Given the description of an element on the screen output the (x, y) to click on. 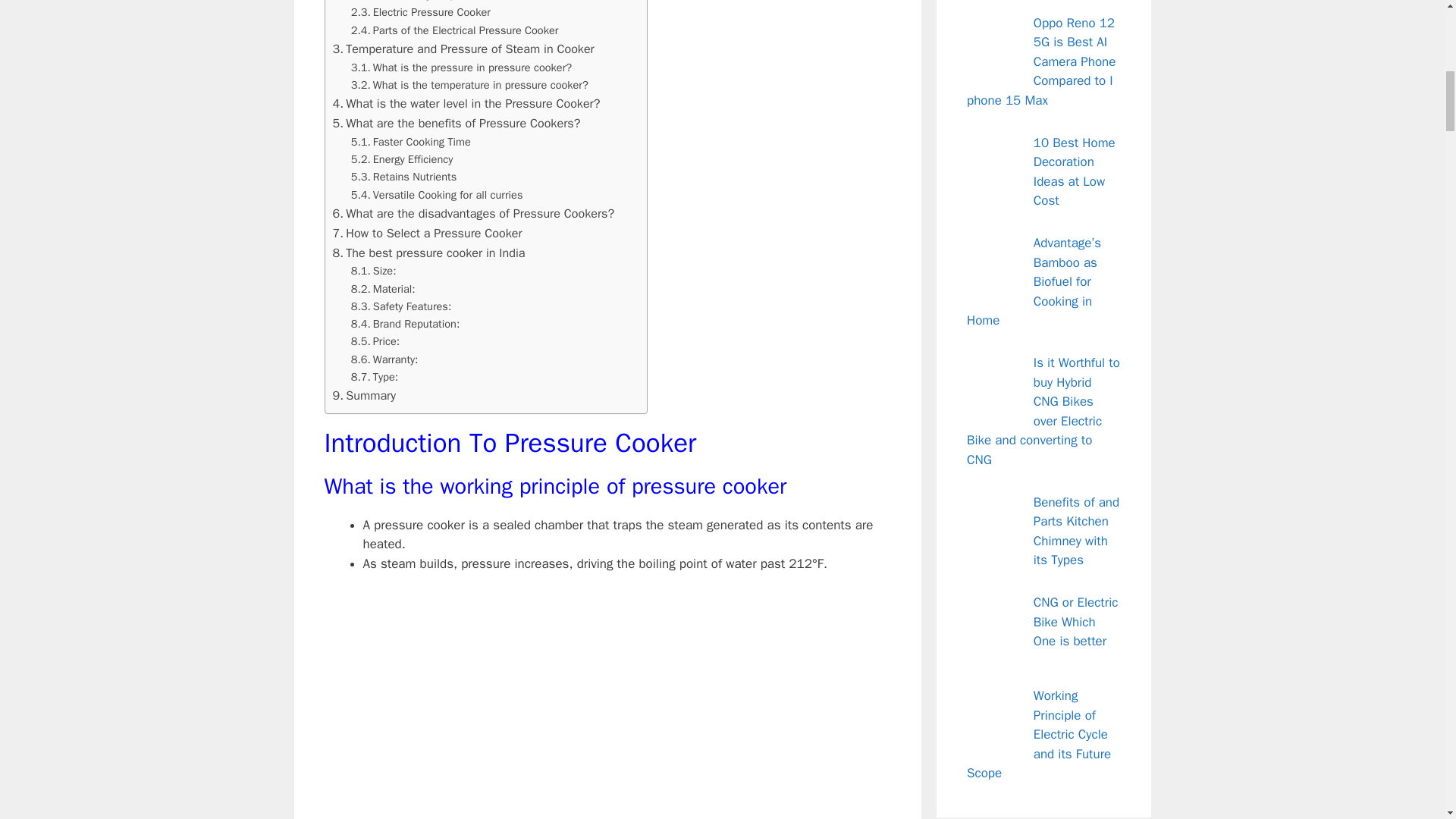
What is the temperature in pressure cooker? (469, 85)
Parts of the Electrical Pressure Cooker (454, 30)
Temperature and Pressure of Steam in Cooker (462, 48)
Temperature and Pressure of Steam in Cooker (462, 48)
What is the water level in the Pressure Cooker? (465, 103)
What is the pressure in pressure cooker? (461, 67)
Parts of the Electrical Pressure Cooker (454, 30)
What is the pressure in pressure cooker? (461, 67)
What is the temperature in pressure cooker? (469, 85)
Electric Pressure Cooker (420, 12)
